Given the description of an element on the screen output the (x, y) to click on. 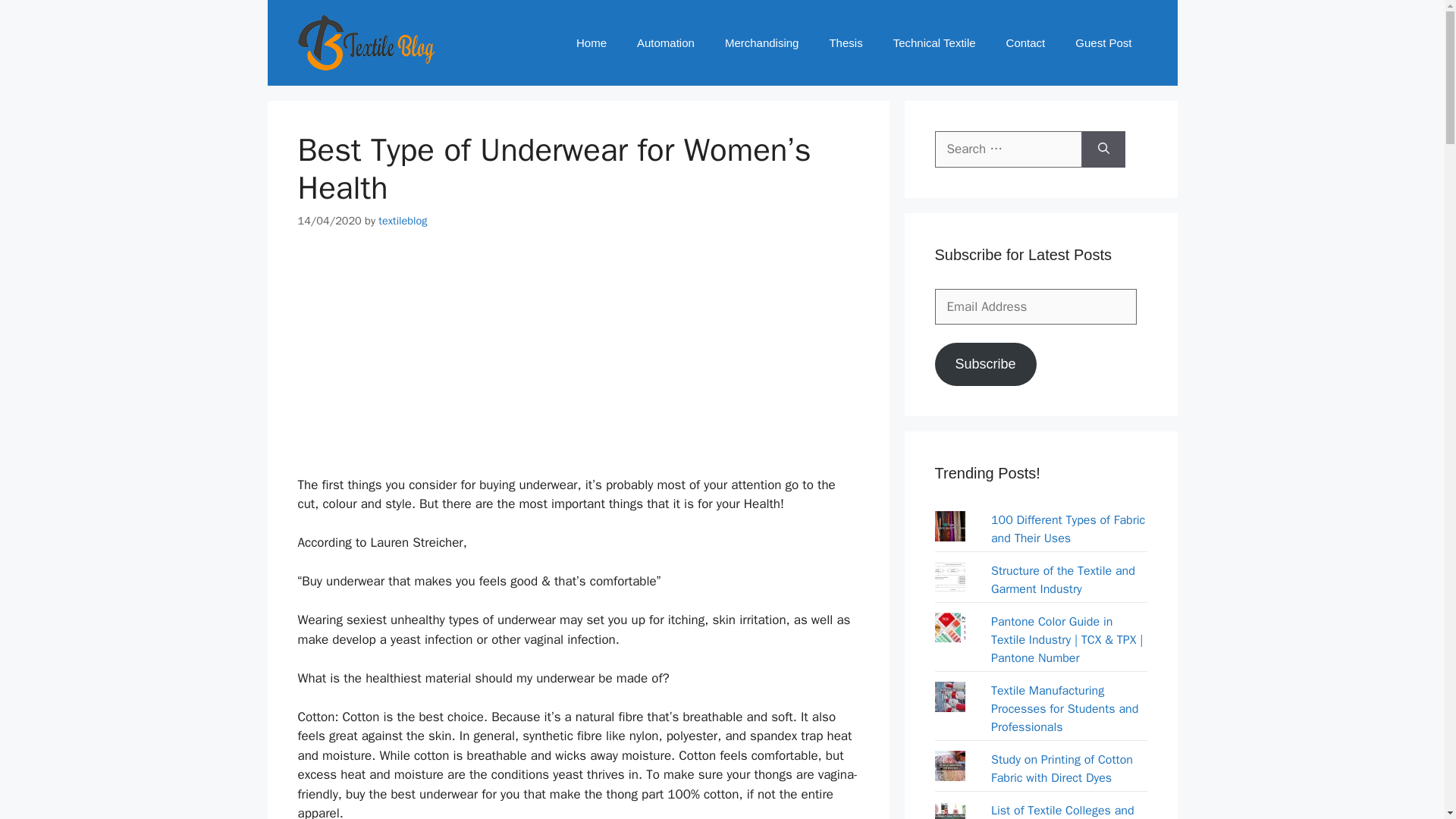
Structure of the Textile and Garment Industry (1063, 580)
100 Different Types of Fabric and Their Uses (1067, 529)
Merchandising (761, 42)
Automation (665, 42)
Structure of the Textile and Garment Industry (1063, 580)
Study on Printing of Cotton Fabric with Direct Dyes (1061, 768)
Thesis (845, 42)
Contact (1026, 42)
Subscribe (984, 364)
Technical Textile (934, 42)
Home (590, 42)
Advertisement (577, 361)
Guest Post (1103, 42)
Search for: (1007, 149)
100 Different Types of Fabric and Their Uses (1067, 529)
